Given the description of an element on the screen output the (x, y) to click on. 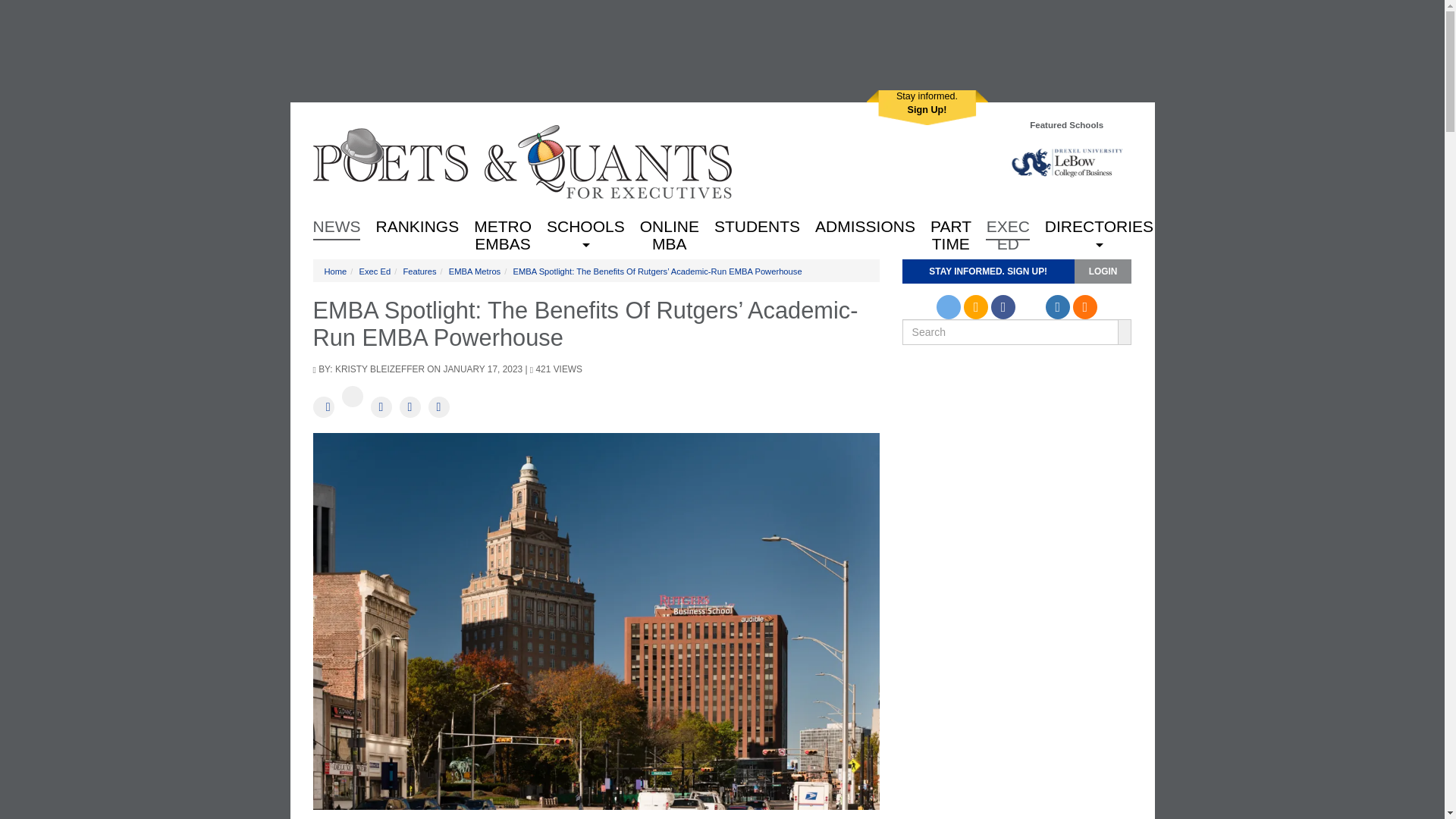
Home (521, 160)
ONLINE MBA (668, 224)
Schools (584, 224)
DIRECTORIES (1098, 224)
EXEC ED (1007, 224)
RANKINGS (417, 224)
SCHOOLS (584, 224)
METRO EMBAS (926, 107)
NEWS (501, 224)
